Given the description of an element on the screen output the (x, y) to click on. 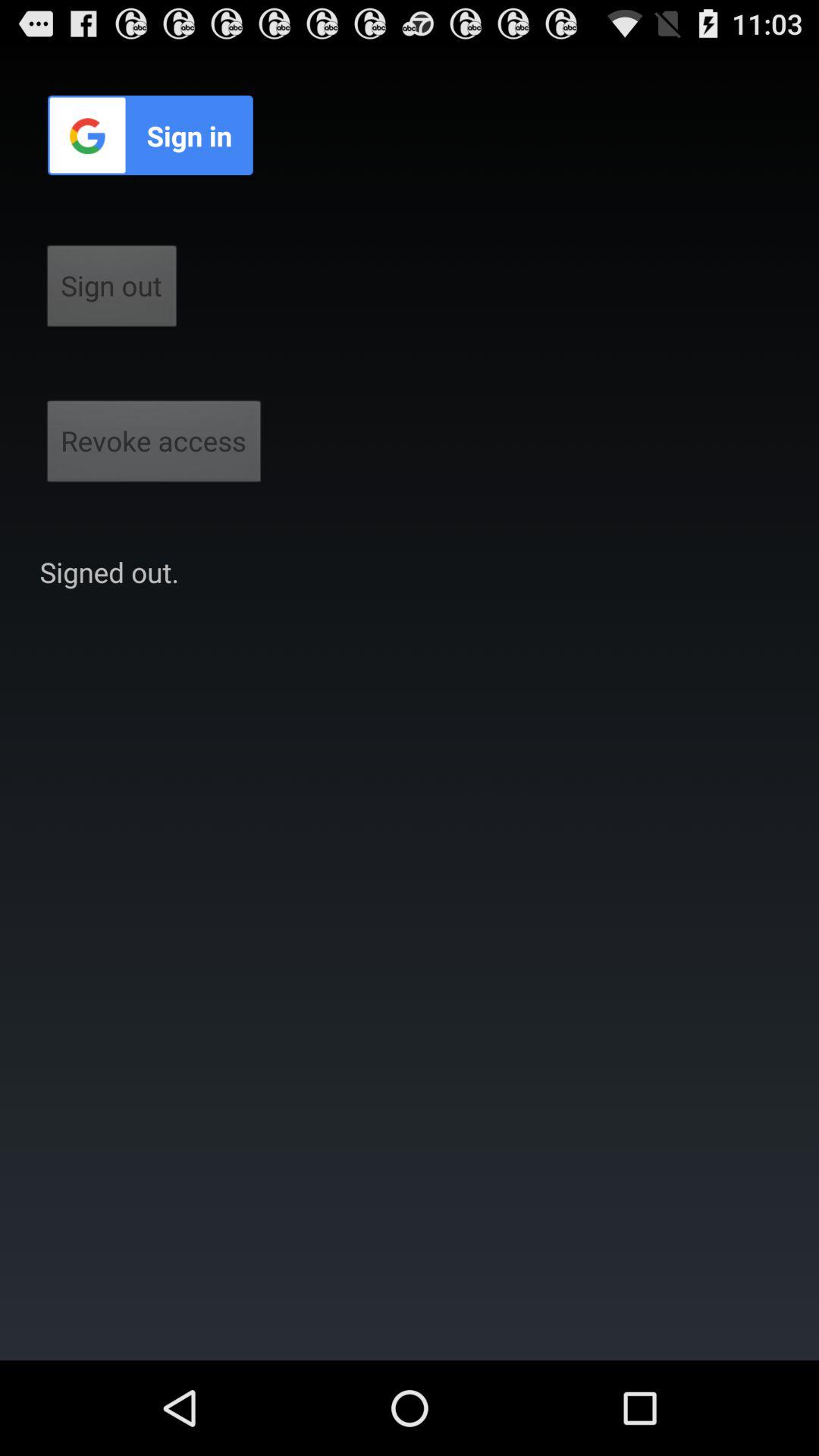
scroll to the sign in item (150, 135)
